Given the description of an element on the screen output the (x, y) to click on. 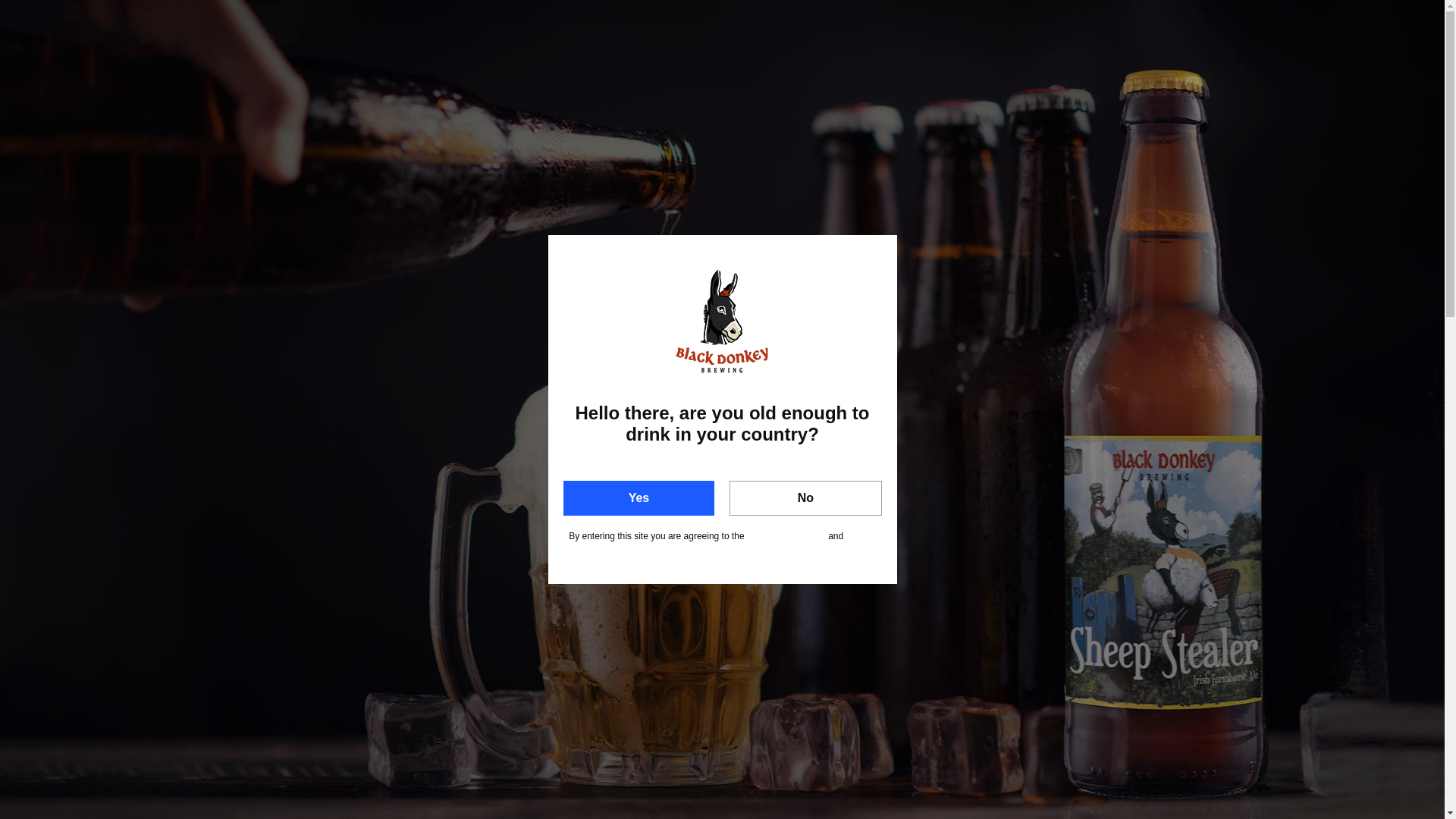
Home (378, 68)
My Account (1371, 12)
Home (661, 236)
Blog (536, 68)
Our Beers (623, 68)
Contact (990, 68)
Stockists (894, 68)
About (458, 68)
Instagram page opens in new window (1310, 13)
Facebook page opens in new window (1263, 13)
